Given the description of an element on the screen output the (x, y) to click on. 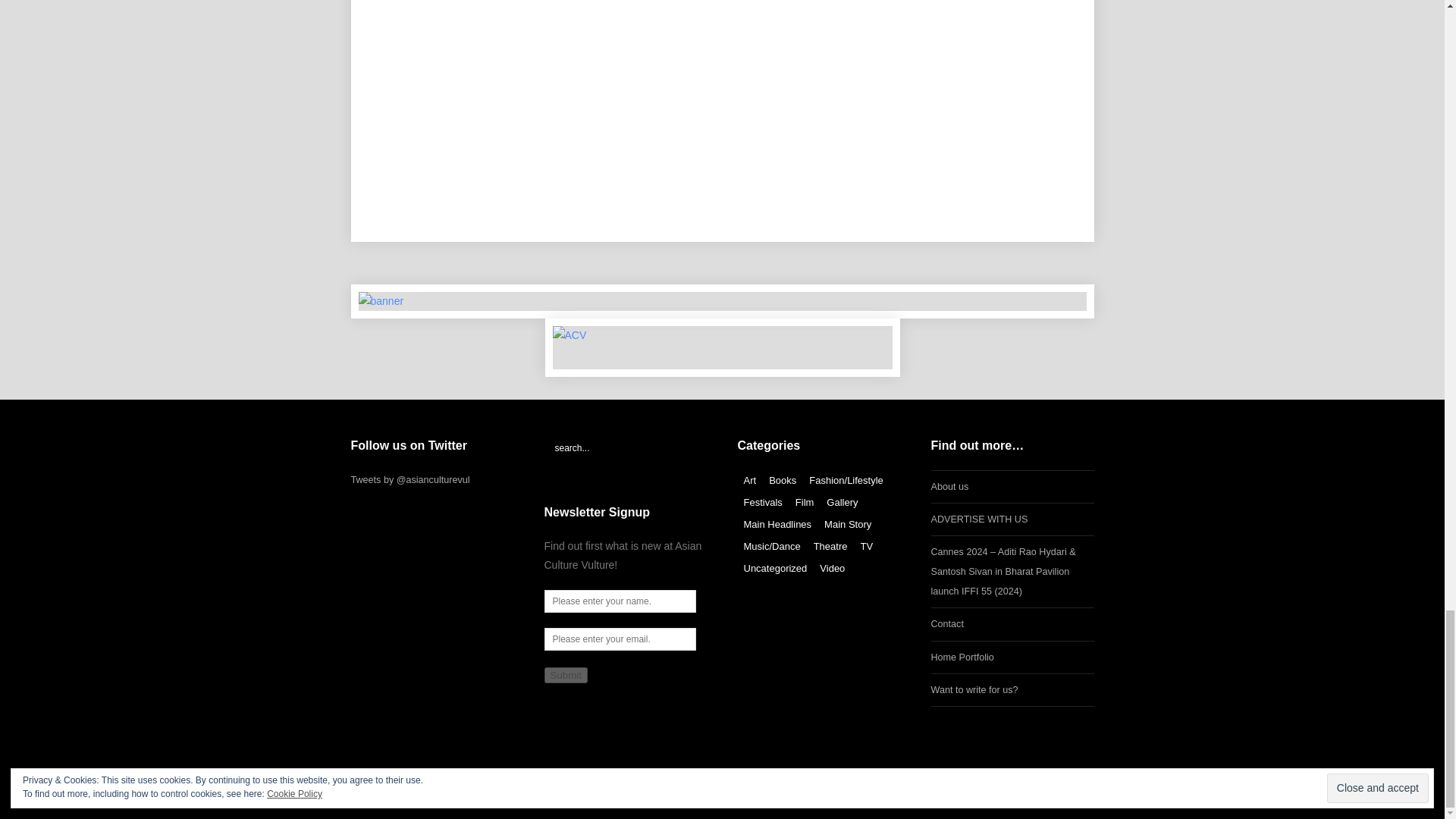
search... (625, 447)
Submit (566, 675)
search... (625, 447)
